Given the description of an element on the screen output the (x, y) to click on. 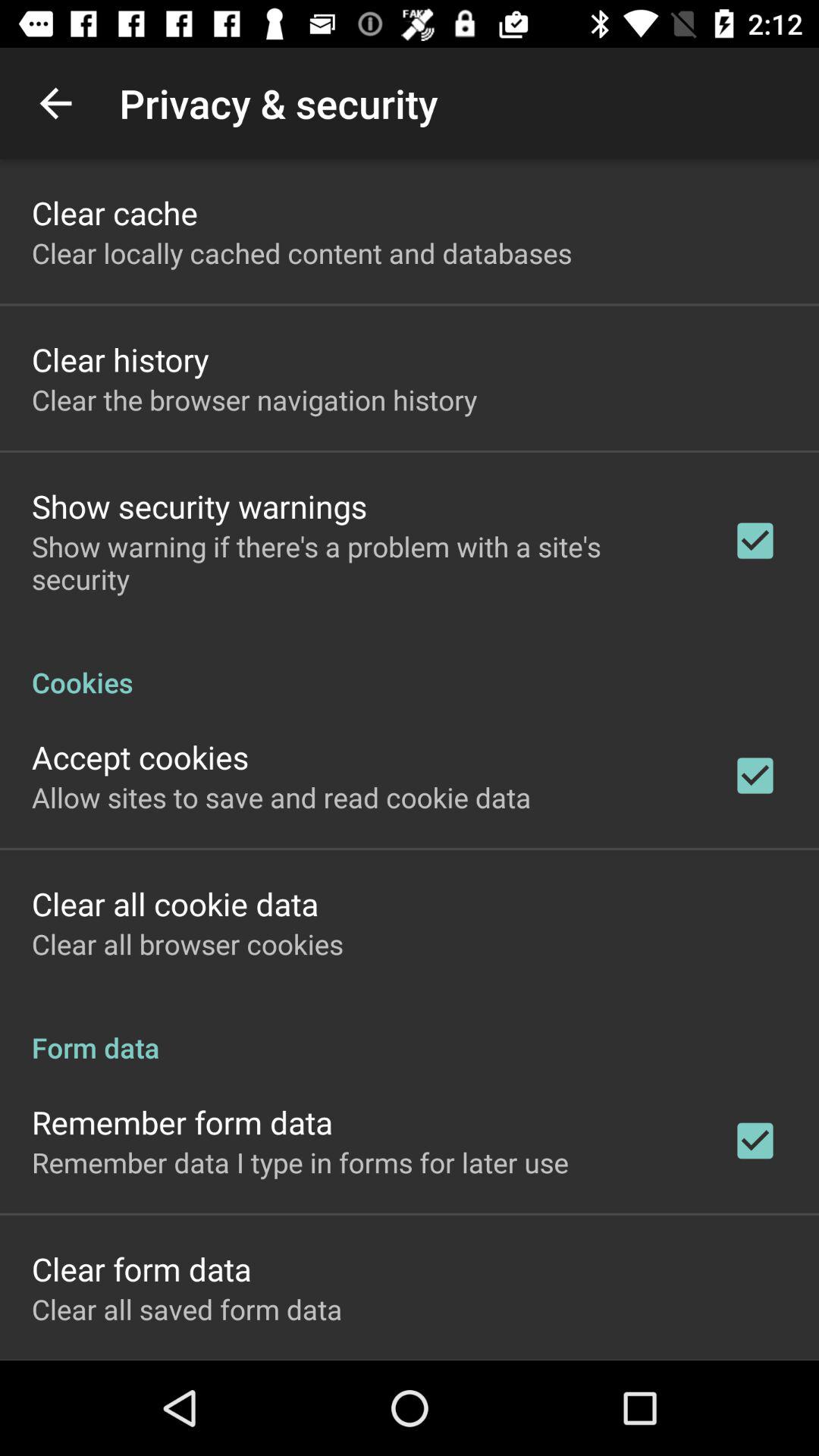
open item to the left of the privacy & security item (55, 103)
